Given the description of an element on the screen output the (x, y) to click on. 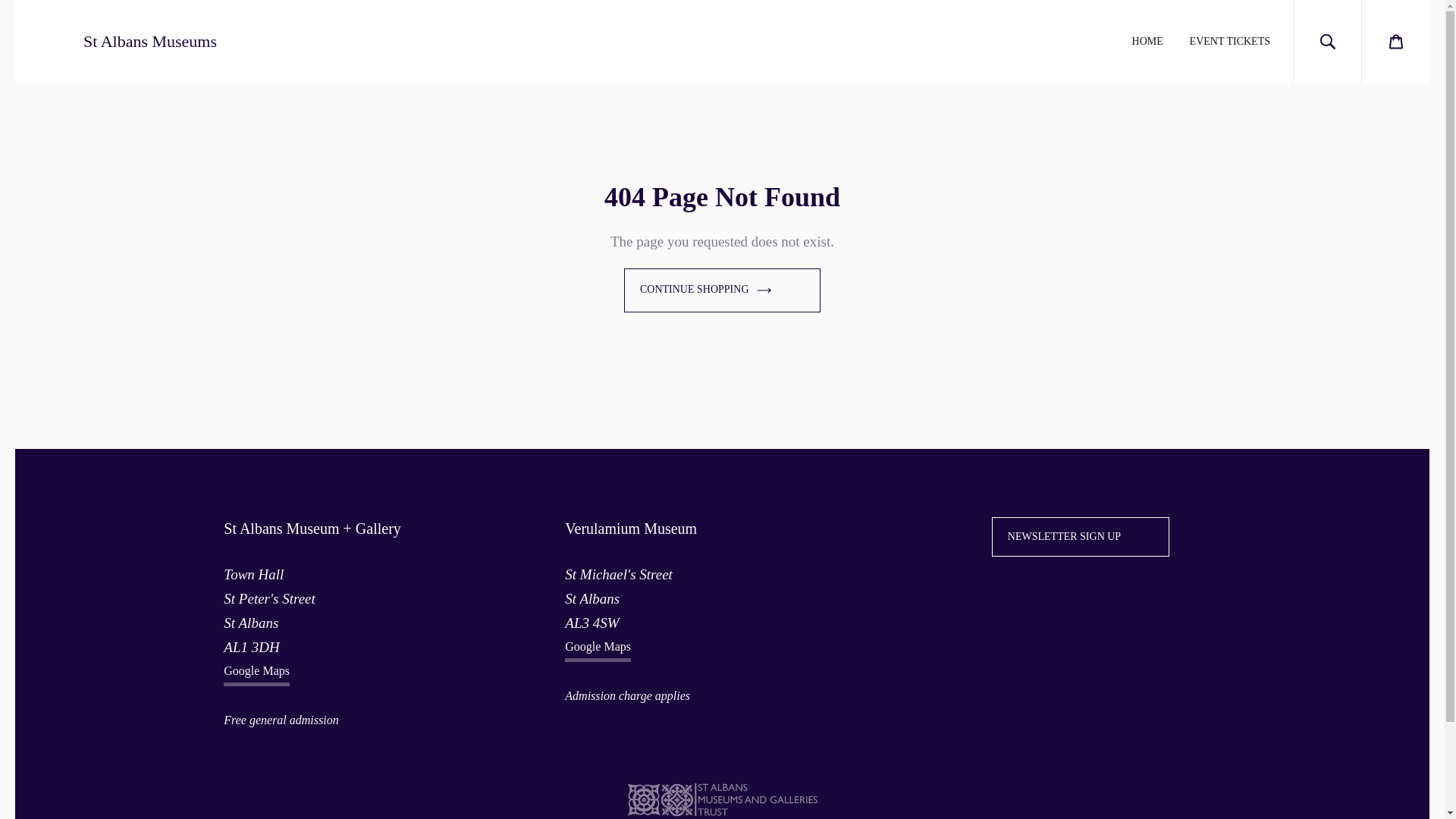
Google Maps (256, 673)
EVENT TICKETS (1229, 41)
Google Maps (597, 648)
Verulamium Museum (630, 528)
Heritage Lottery funded (1125, 798)
Verulamium Museum (630, 528)
Home (115, 41)
Instagram (1100, 590)
Newsletter sign up (1080, 536)
Twitter (1052, 590)
